Given the description of an element on the screen output the (x, y) to click on. 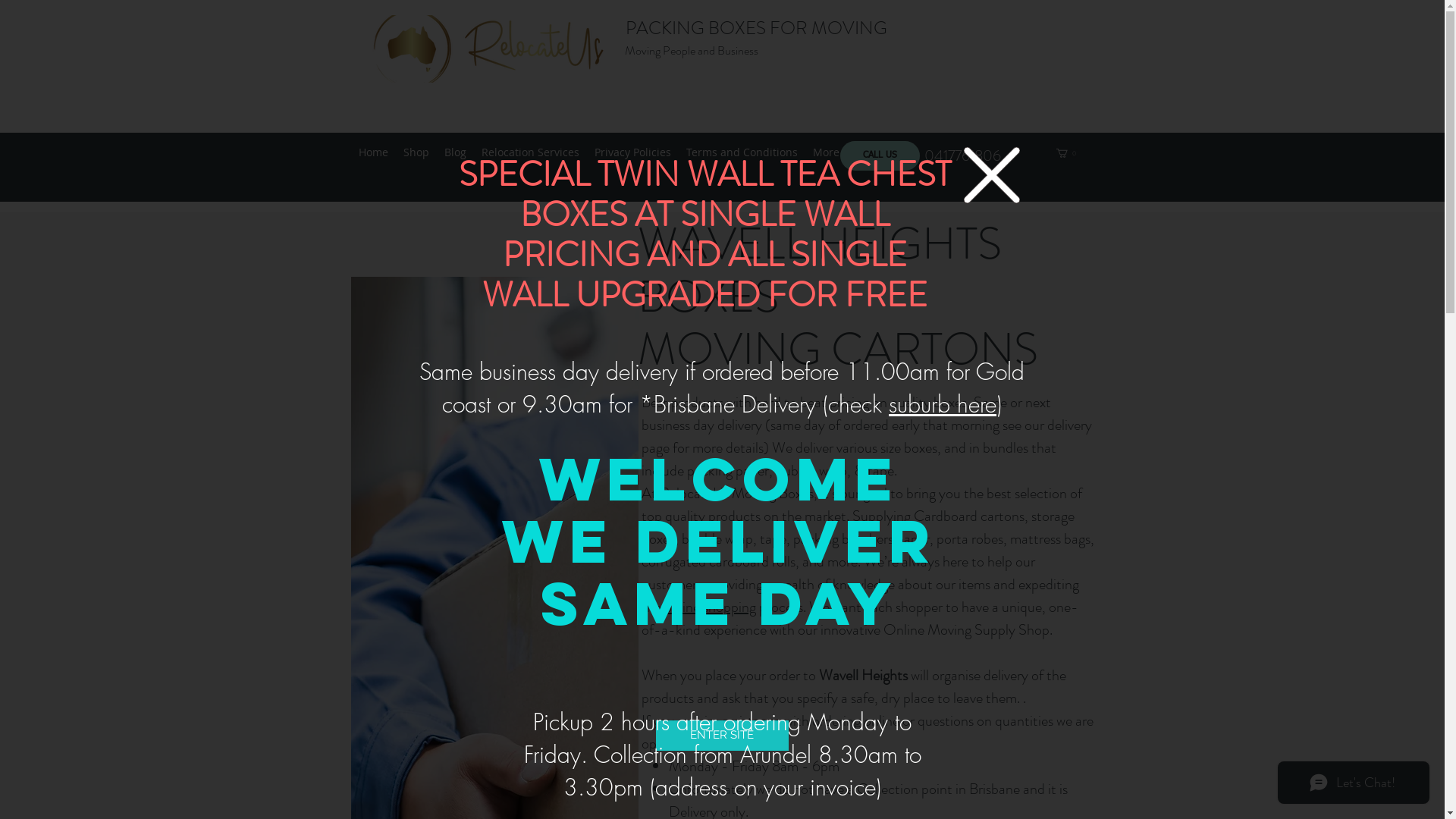
Shop Element type: text (415, 152)
Blog Element type: text (454, 152)
Relocation Services Element type: text (529, 152)
suburb here Element type: text (942, 404)
Home Element type: text (372, 152)
online shopping Element type: text (710, 607)
Terms and Conditions Element type: text (740, 152)
Back to site Element type: hover (991, 174)
0 Element type: text (1066, 152)
Privacy Policies Element type: text (632, 152)
Site Search Element type: hover (933, 63)
CALL US Element type: text (879, 155)
